Given the description of an element on the screen output the (x, y) to click on. 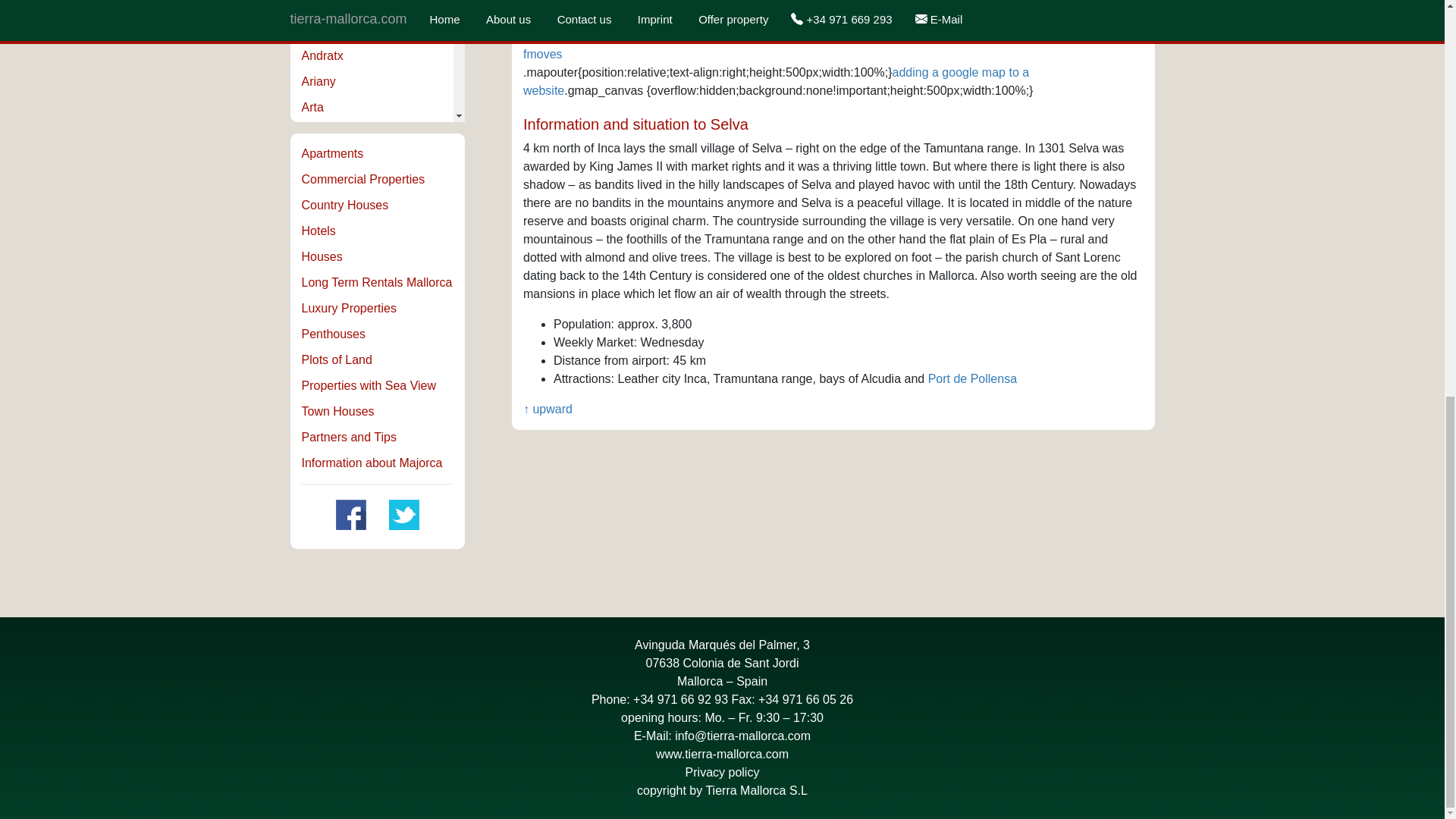
Living above the roofs of Majorca (333, 332)
Authentic property on Majorca (344, 204)
Cala Mandia (335, 390)
Cala Mayor (332, 416)
Long term rentals in Majorca (376, 281)
Cala Mesquida (341, 441)
Cala Mondrago (342, 468)
Binissalem (330, 236)
Our Partners (348, 436)
Ariany (318, 81)
Biniali (317, 210)
Arta (312, 106)
Cala Llombards (344, 364)
Cala Murada (336, 493)
Bahia Azul (330, 132)
